Given the description of an element on the screen output the (x, y) to click on. 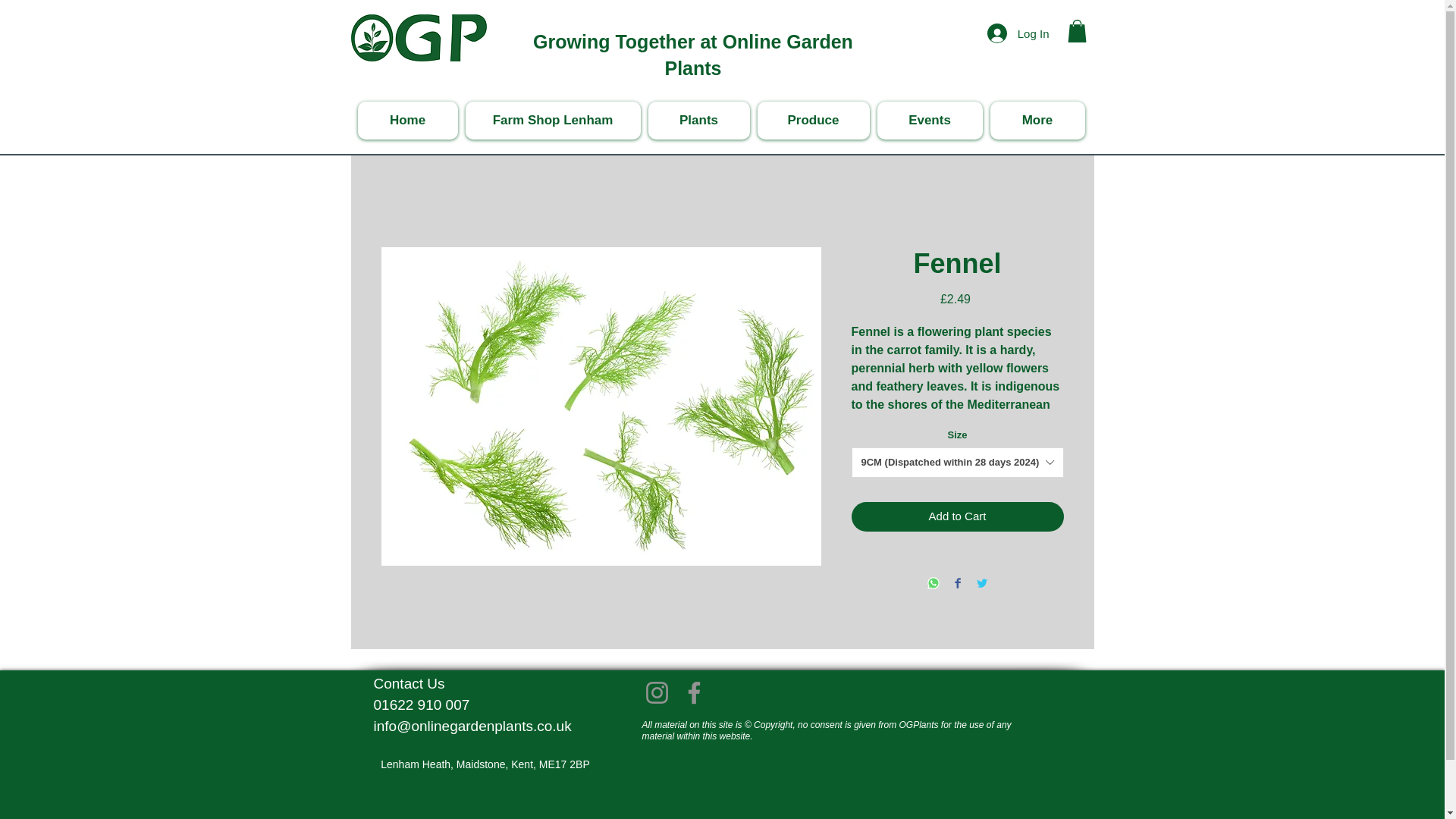
Add to Cart (956, 516)
Log In (1017, 32)
Events (928, 120)
Home (408, 120)
Farm Shop Lenham (552, 120)
More (1037, 120)
